Given the description of an element on the screen output the (x, y) to click on. 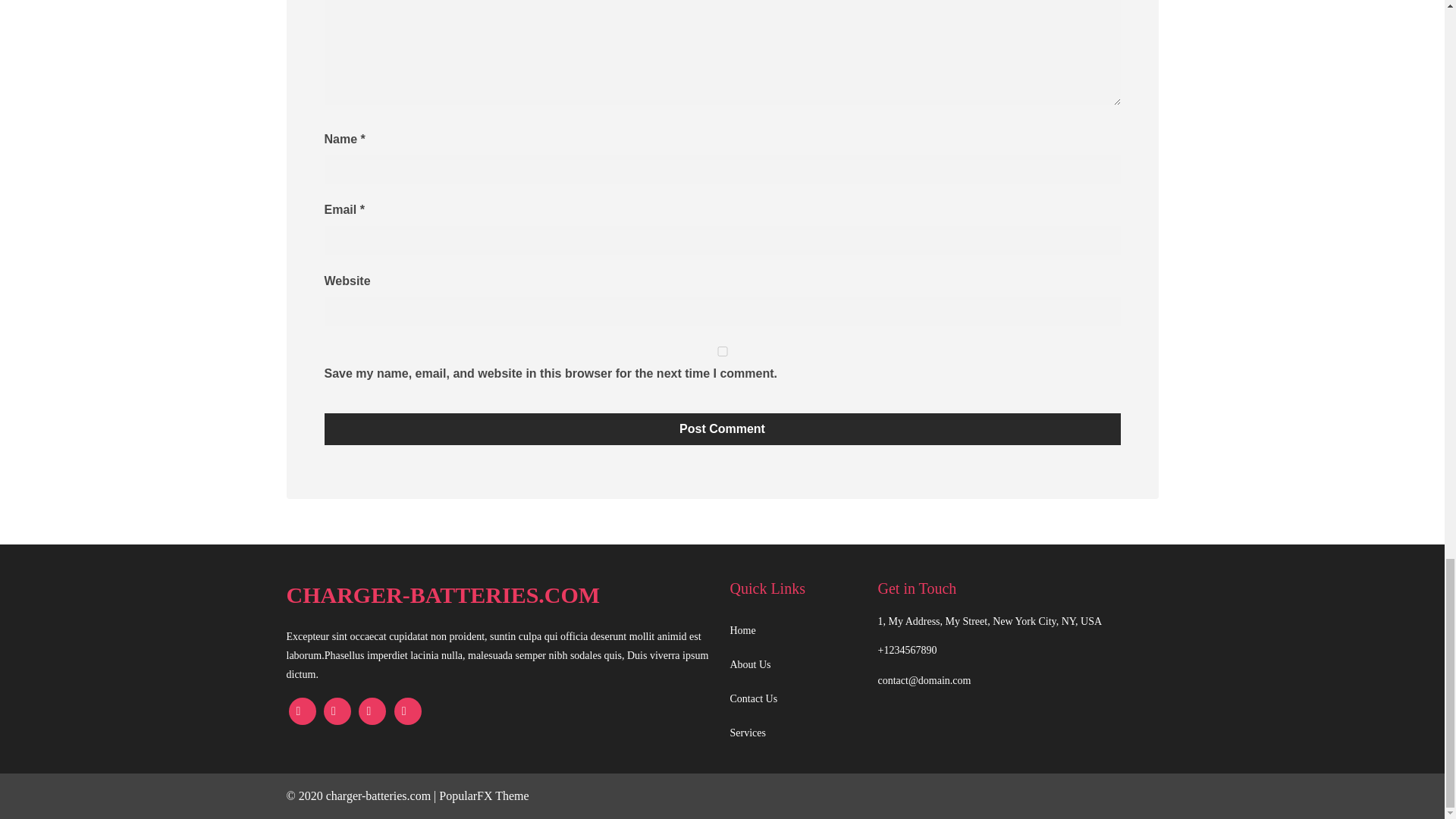
Post Comment (722, 429)
PopularFX Theme (483, 794)
CHARGER-BATTERIES.COM (500, 594)
Post Comment (722, 429)
yes (722, 351)
